Given the description of an element on the screen output the (x, y) to click on. 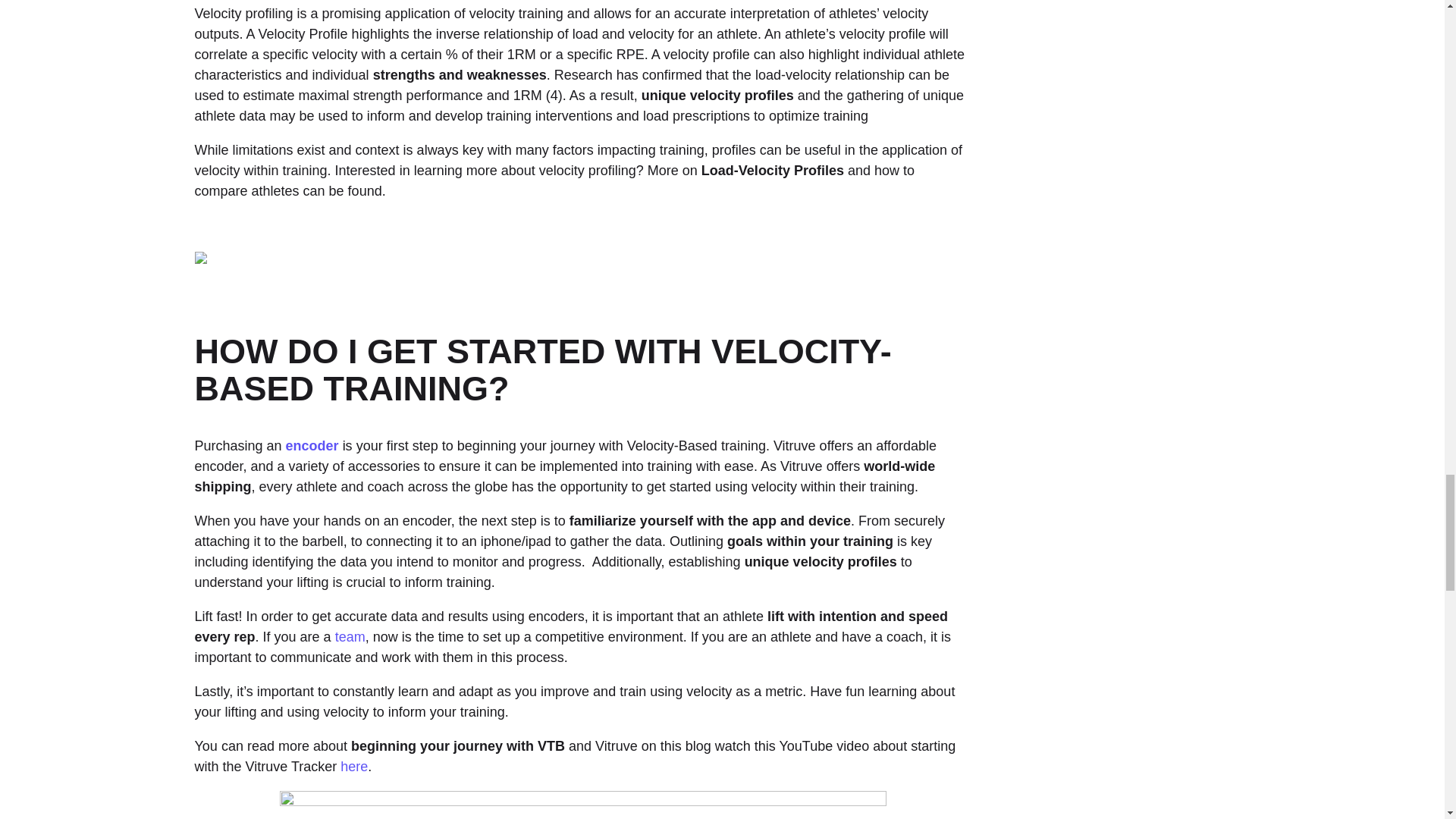
team (349, 636)
encoder (312, 445)
here (354, 766)
